Given the description of an element on the screen output the (x, y) to click on. 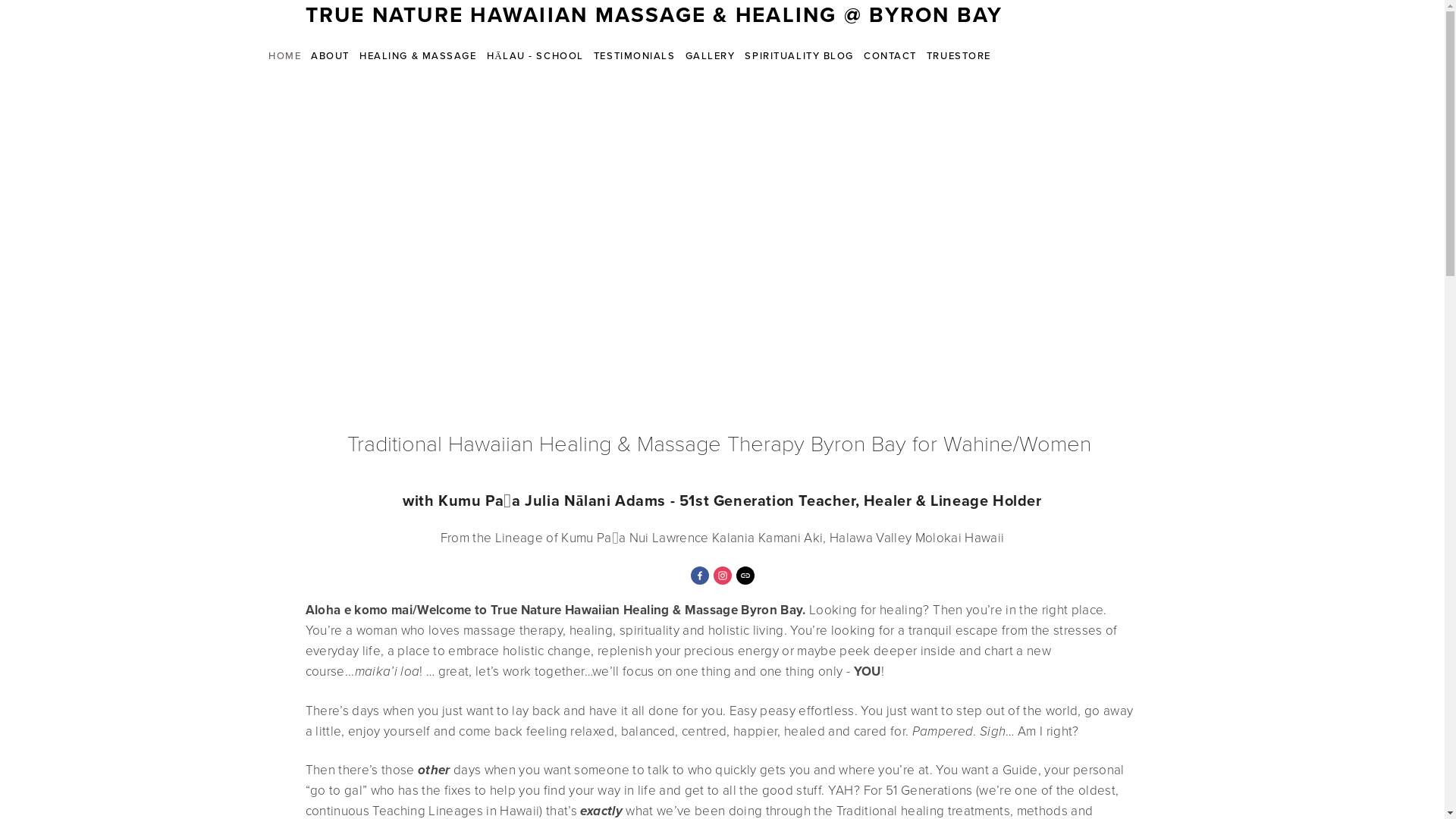
CONTACT Element type: text (890, 55)
SPIRITUALITY BLOG Element type: text (799, 55)
HOME Element type: text (284, 55)
GALLERY Element type: text (710, 55)
HEALING & MASSAGE Element type: text (418, 55)
TESTIMONIALS Element type: text (634, 55)
TRUE NATURE HAWAIIAN MASSAGE & HEALING @ BYRON BAY Element type: text (653, 14)
TRUESTORE Element type: text (958, 55)
ABOUT Element type: text (330, 55)
